Given the description of an element on the screen output the (x, y) to click on. 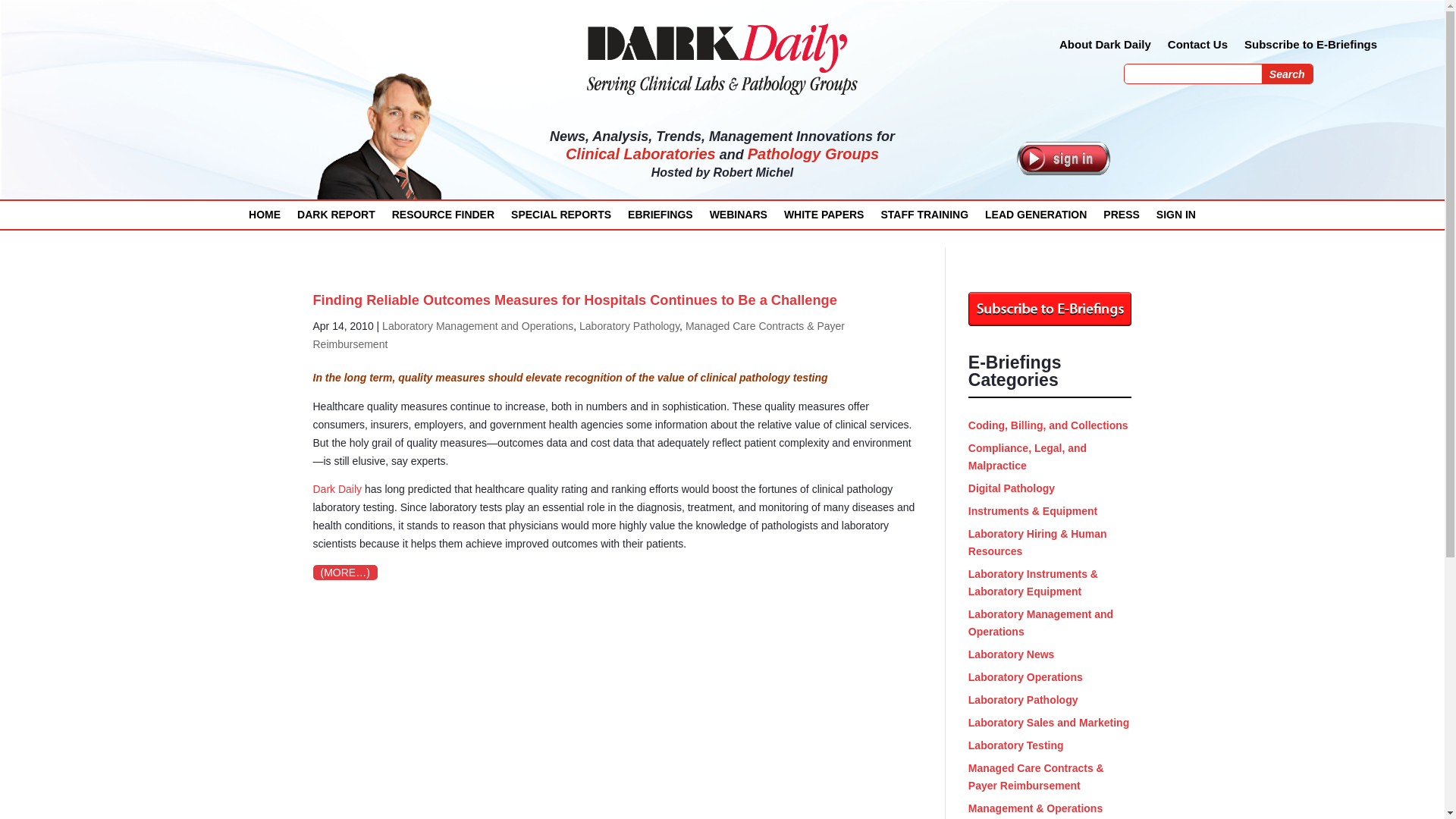
Search (1287, 73)
Search (1287, 73)
EBRIEFINGS (660, 217)
Subscribe to E-Briefings (1310, 47)
SIGN IN (1175, 217)
Coding, Billing, and Collections (1048, 425)
Laboratory Management and Operations (477, 326)
dark-daily-serving-clinical-labs (722, 58)
DARK REPORT (336, 217)
About Dark Daily (1105, 47)
